Given the description of an element on the screen output the (x, y) to click on. 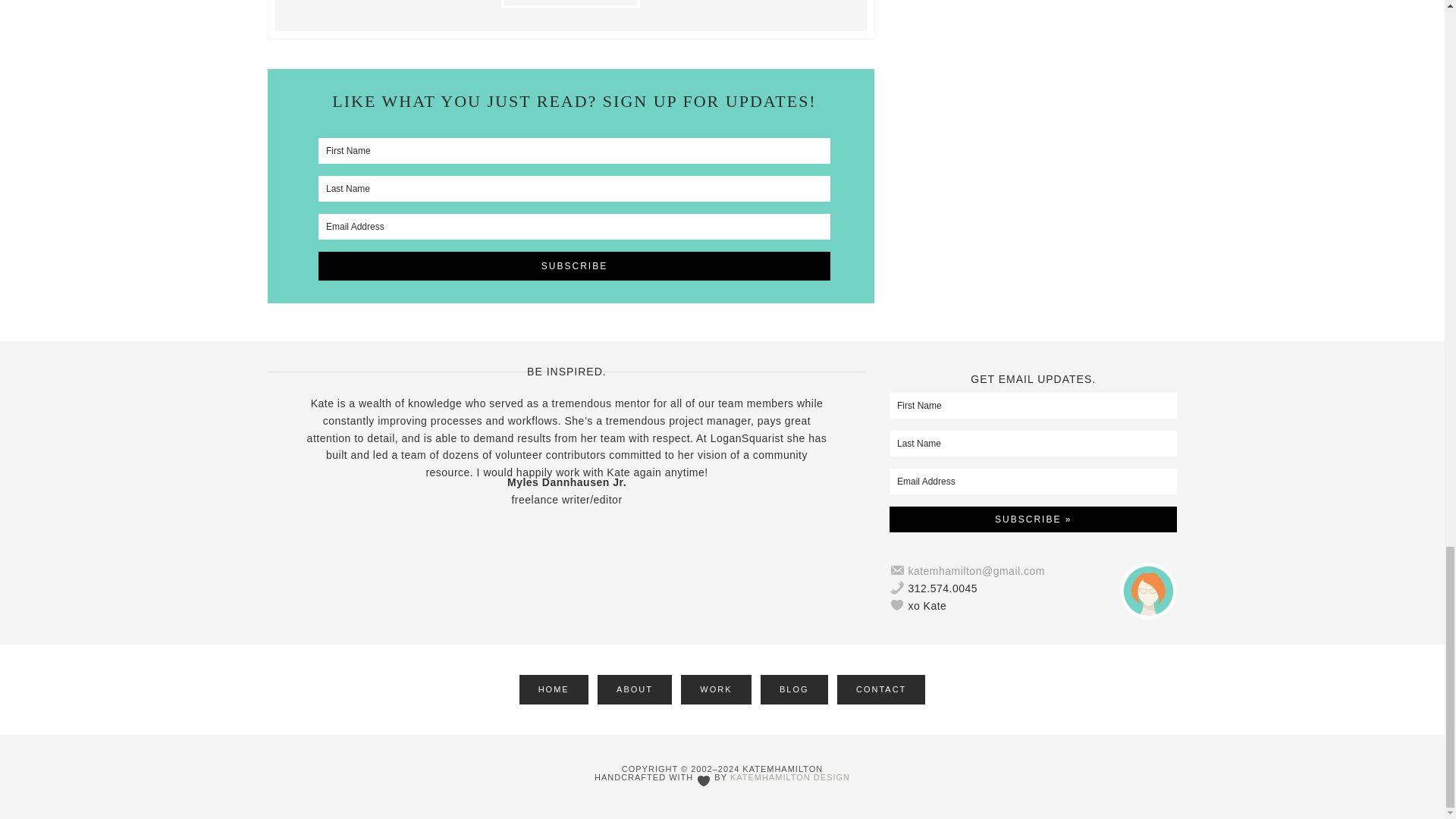
Subscribe (573, 265)
Subscribe (573, 265)
